Given the description of an element on the screen output the (x, y) to click on. 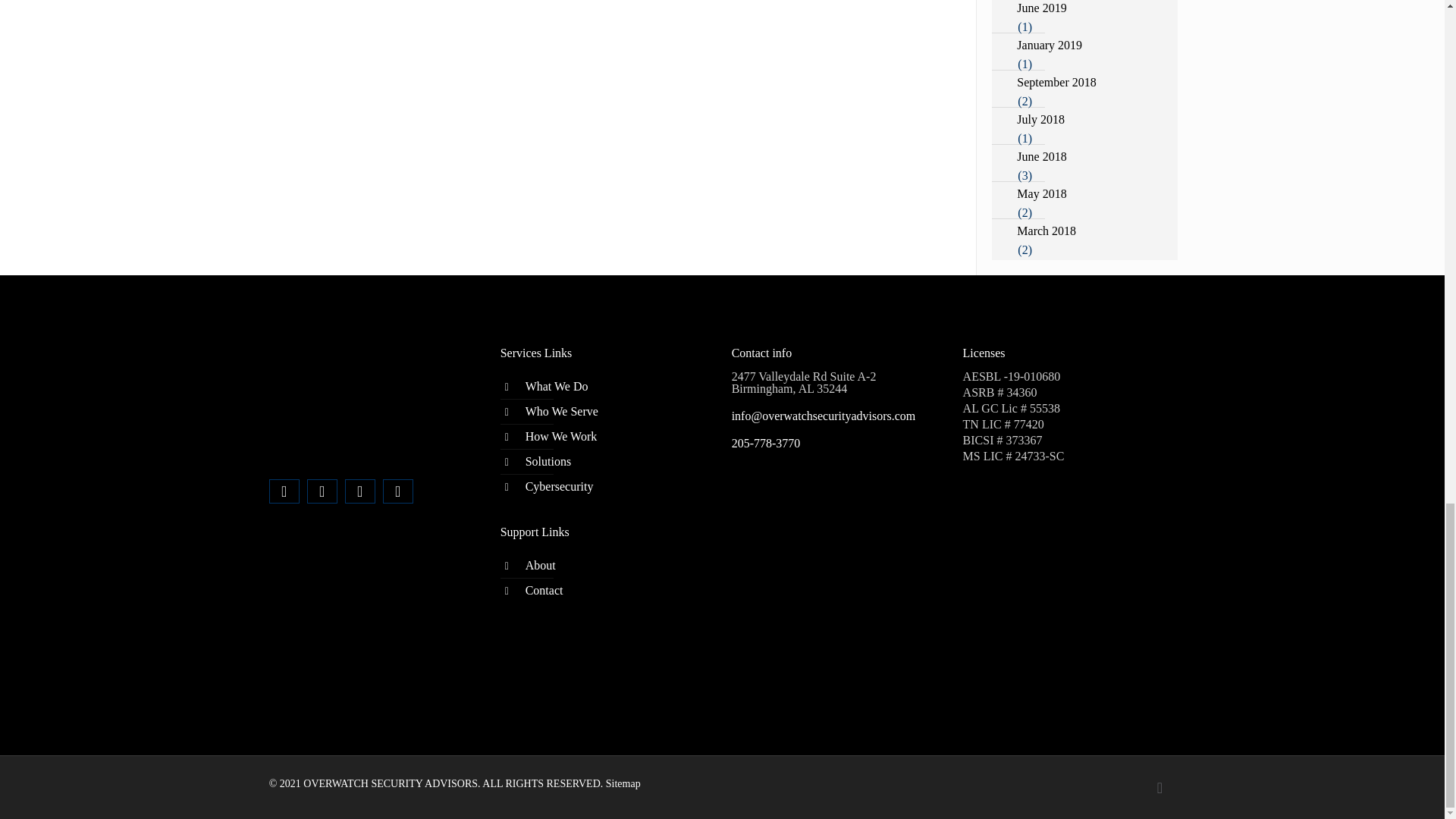
Facebook (284, 491)
Twitter (322, 491)
Instagram (398, 491)
LinkedIn (360, 491)
